Given the description of an element on the screen output the (x, y) to click on. 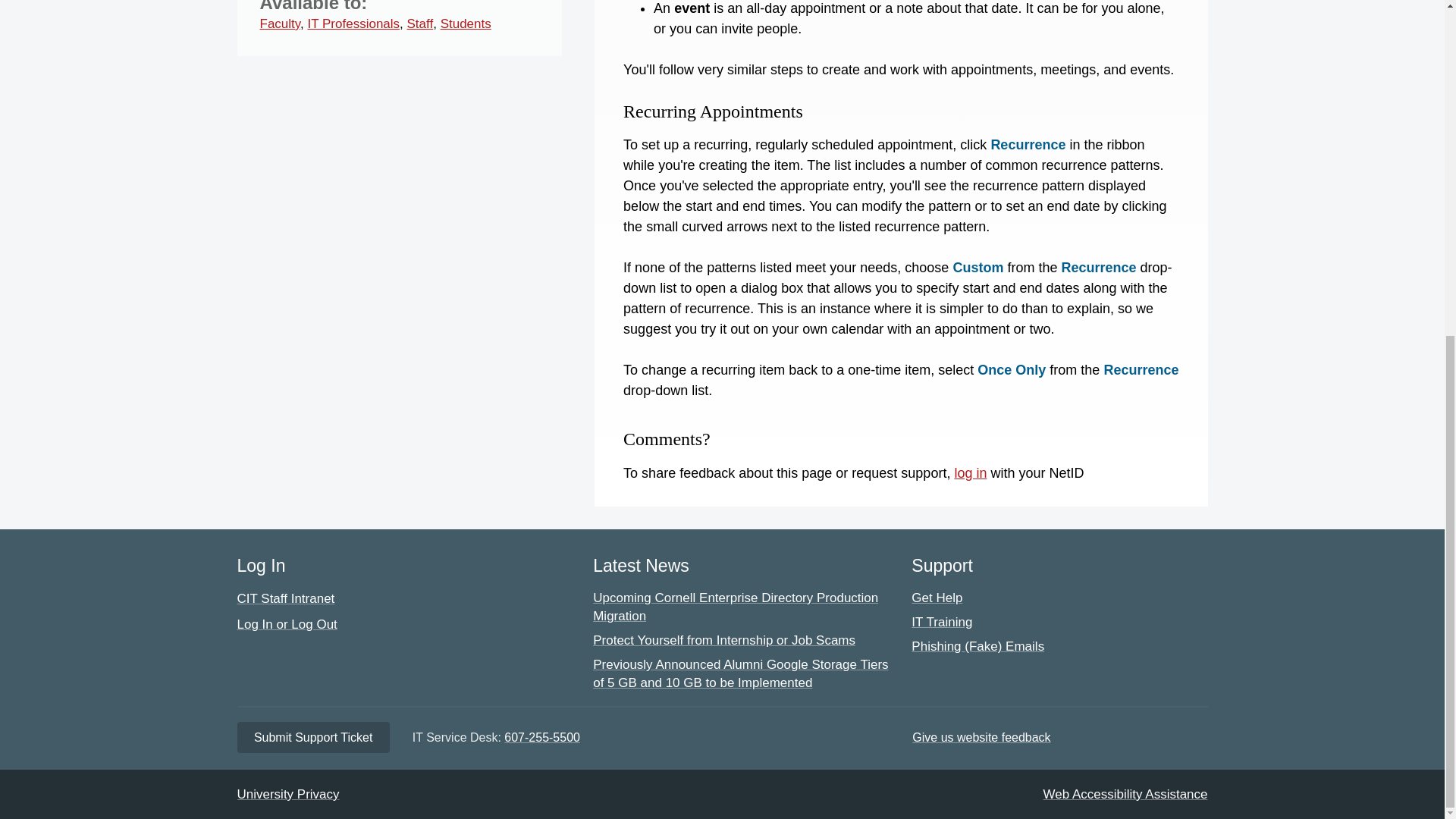
Faculty (279, 23)
IT Professionals (353, 23)
Students (466, 23)
Upcoming Cornell Enterprise Directory Production Migration (734, 606)
log in (970, 473)
Staff (420, 23)
